Given the description of an element on the screen output the (x, y) to click on. 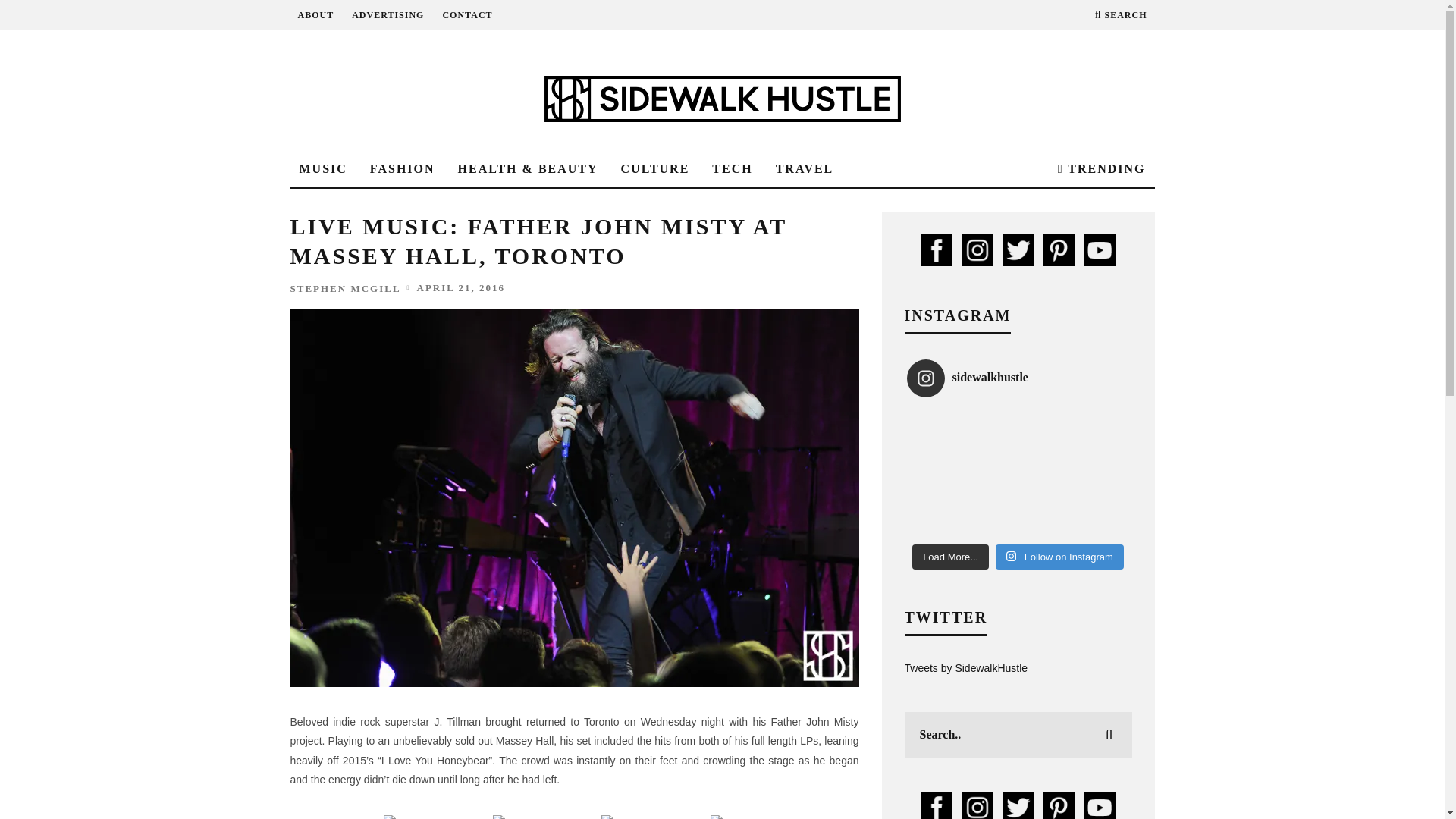
SEARCH (1120, 15)
FASHION (402, 169)
Log In (722, 408)
ADVERTISING (387, 15)
ABOUT (315, 15)
CONTACT (467, 15)
MUSIC (322, 169)
Search (1120, 15)
